Given the description of an element on the screen output the (x, y) to click on. 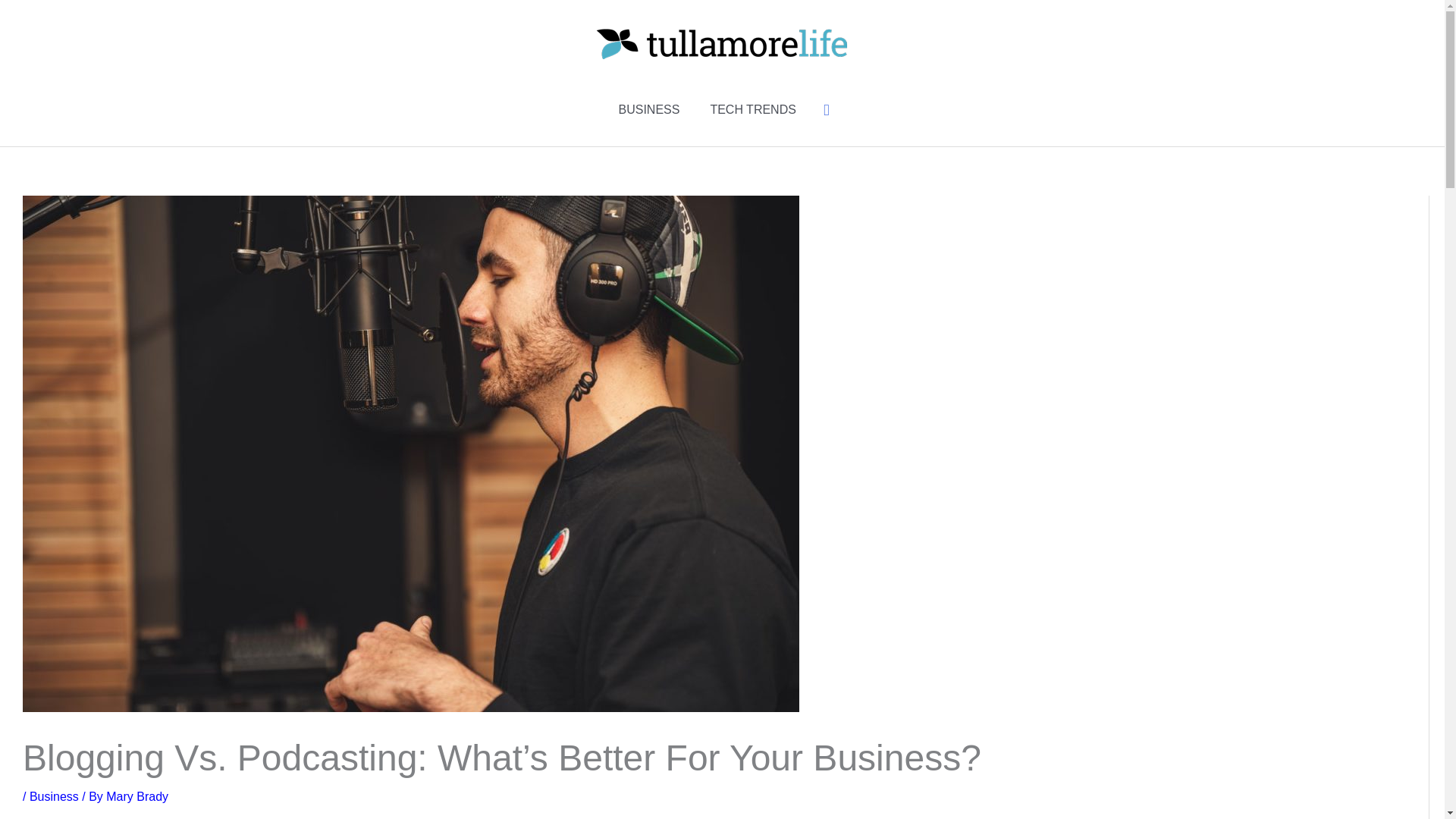
TECH TRENDS (752, 109)
Mary Brady (137, 796)
View all posts by Mary Brady (137, 796)
BUSINESS (648, 109)
SEARCH (826, 109)
Business (53, 796)
